Given the description of an element on the screen output the (x, y) to click on. 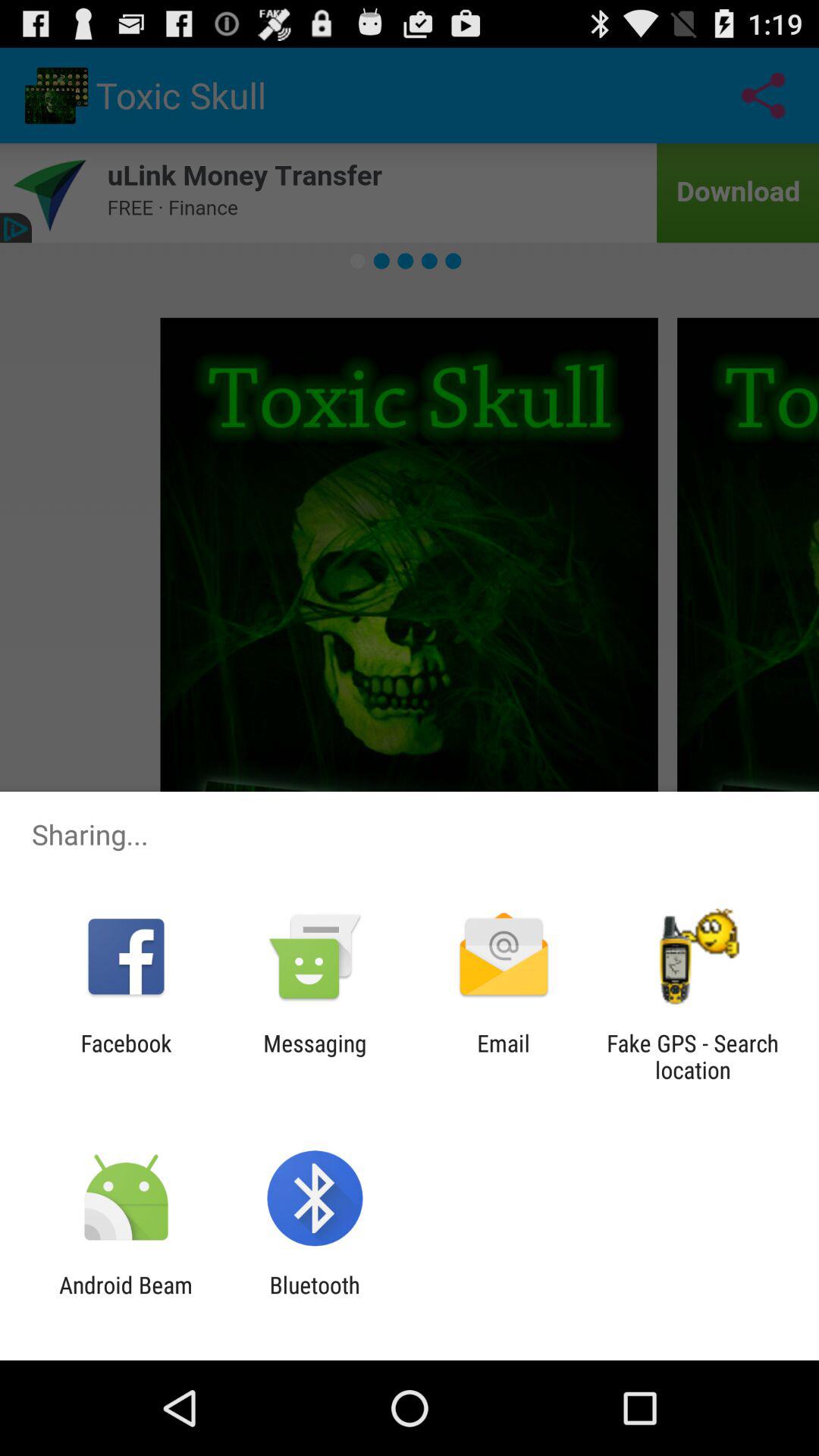
open the android beam item (125, 1298)
